Given the description of an element on the screen output the (x, y) to click on. 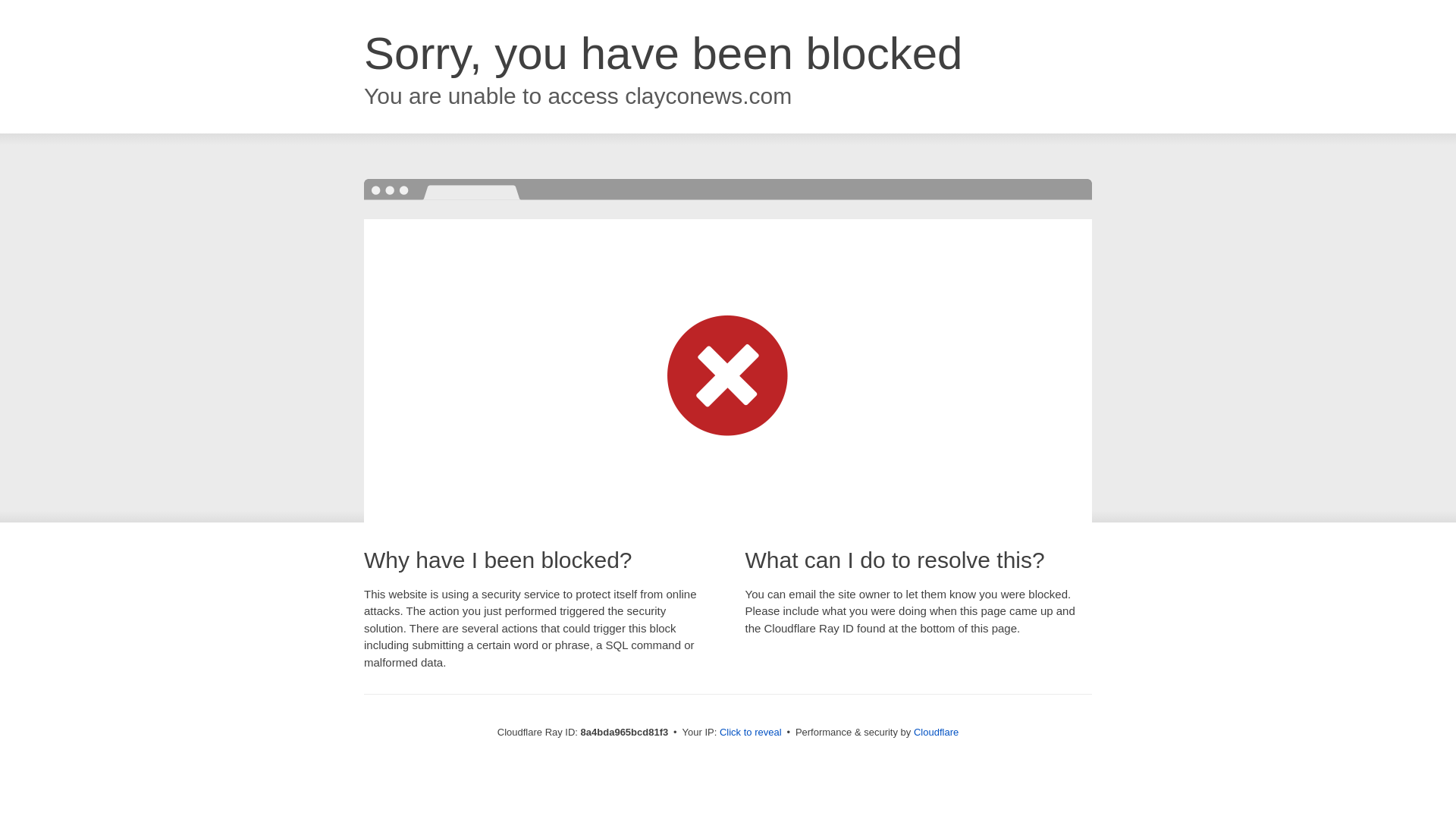
Click to reveal (750, 732)
Cloudflare (936, 731)
